Given the description of an element on the screen output the (x, y) to click on. 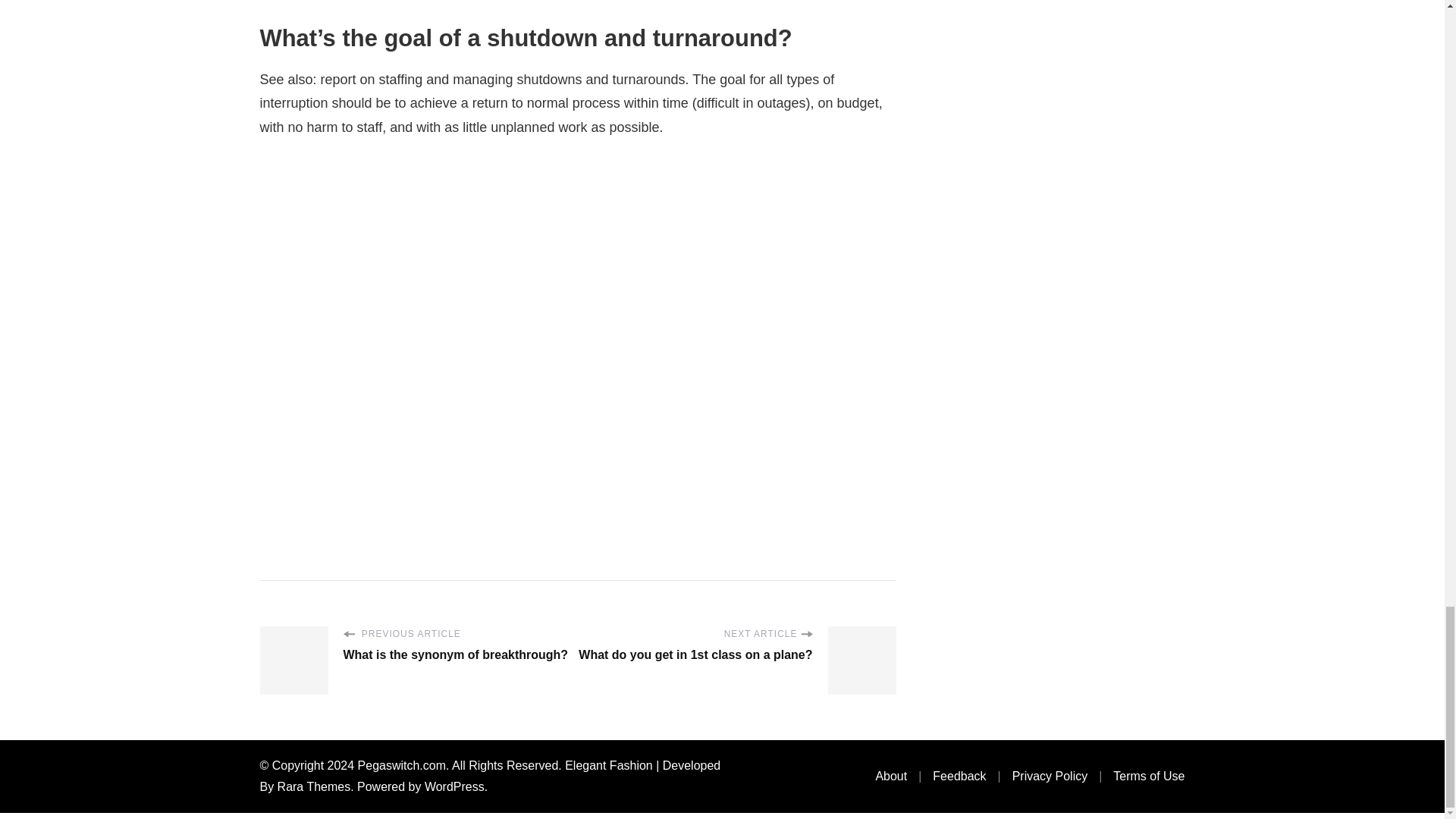
WordPress (454, 786)
Pegaswitch.com (401, 765)
Rara Themes (314, 786)
